Given the description of an element on the screen output the (x, y) to click on. 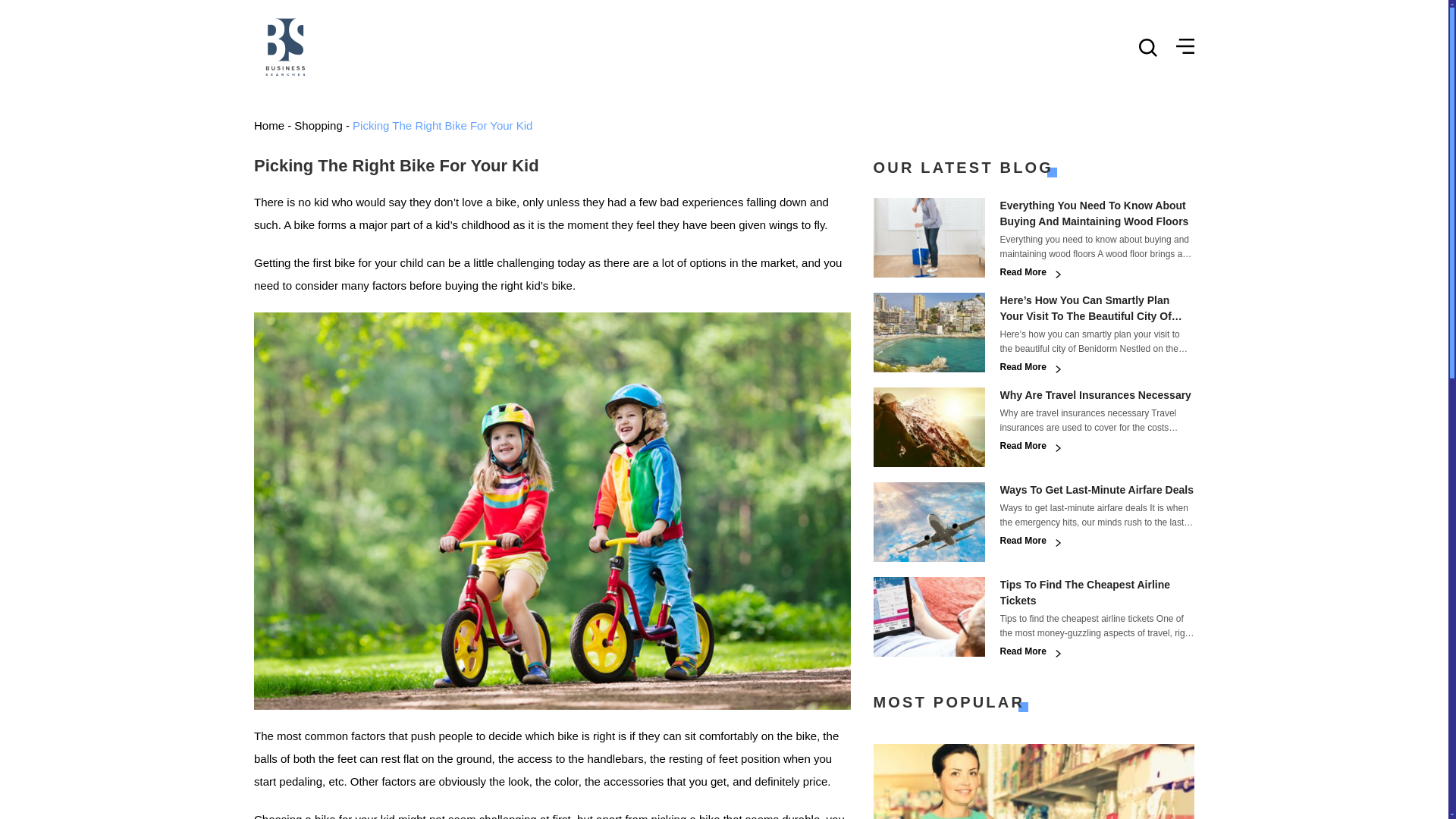
Shopping (318, 124)
Home (268, 124)
